Given the description of an element on the screen output the (x, y) to click on. 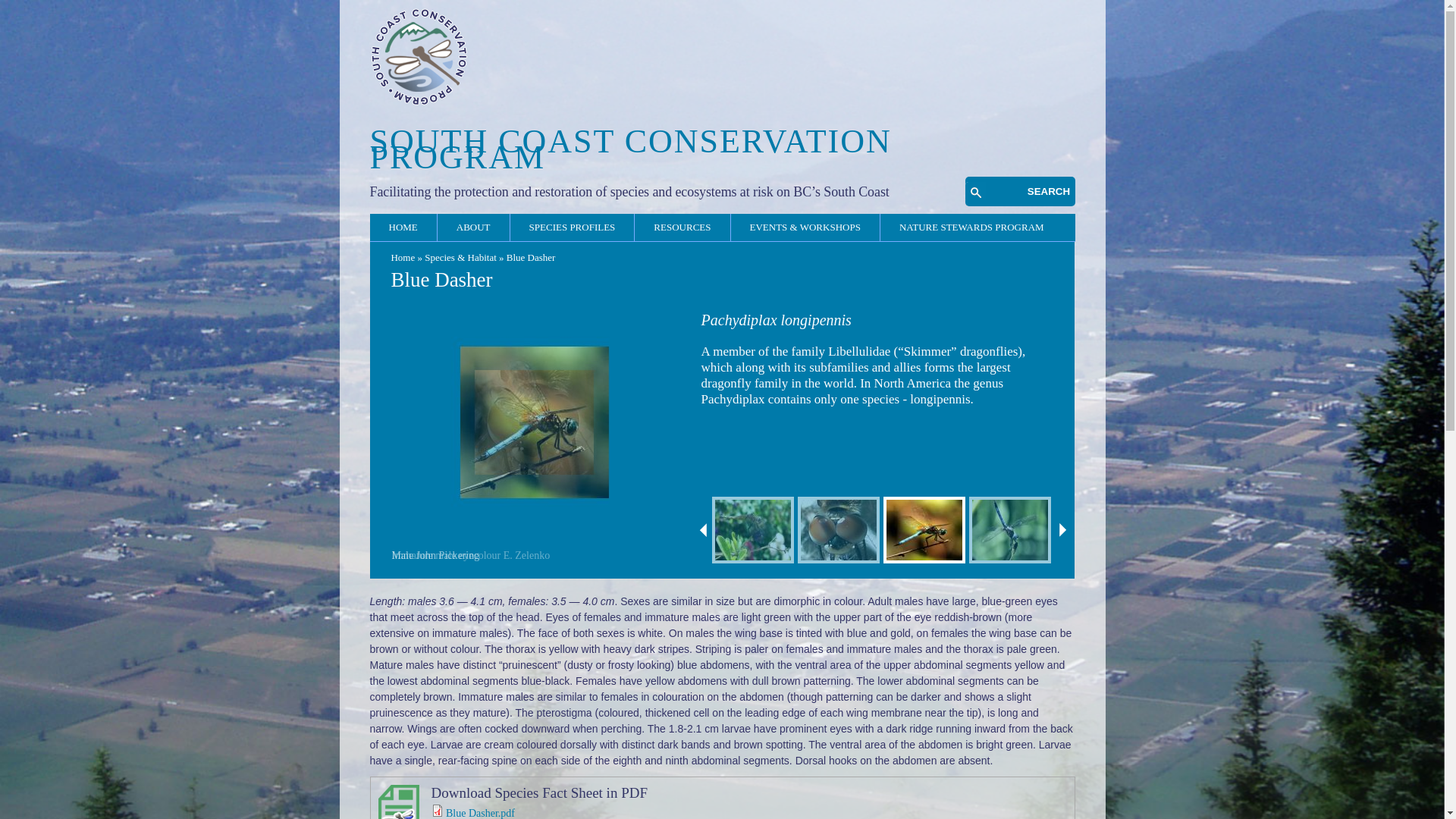
Home (418, 102)
HOME (402, 225)
Search (1050, 190)
Immature male eyecolour E. Zelenko (534, 422)
SOUTH COAST CONSERVATION PROGRAM (630, 149)
Home (630, 149)
ABOUT (473, 225)
Search (1050, 190)
SPECIES PROFILES (572, 225)
